Given the description of an element on the screen output the (x, y) to click on. 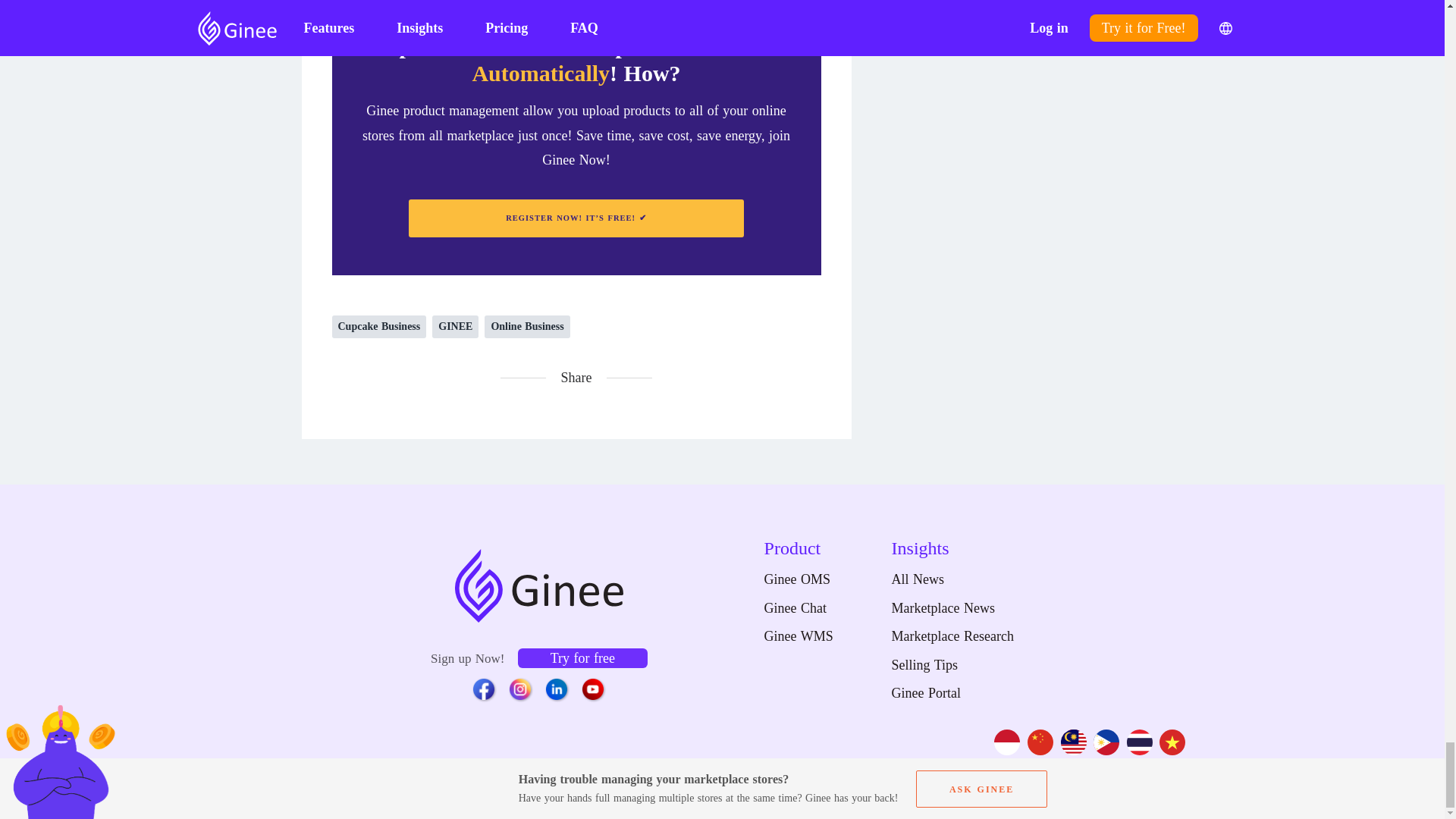
All News (952, 579)
Marketplace Research (952, 636)
Online Business (526, 326)
Marketplace News (952, 608)
Cupcake Business (378, 326)
GINEE (455, 326)
